Given the description of an element on the screen output the (x, y) to click on. 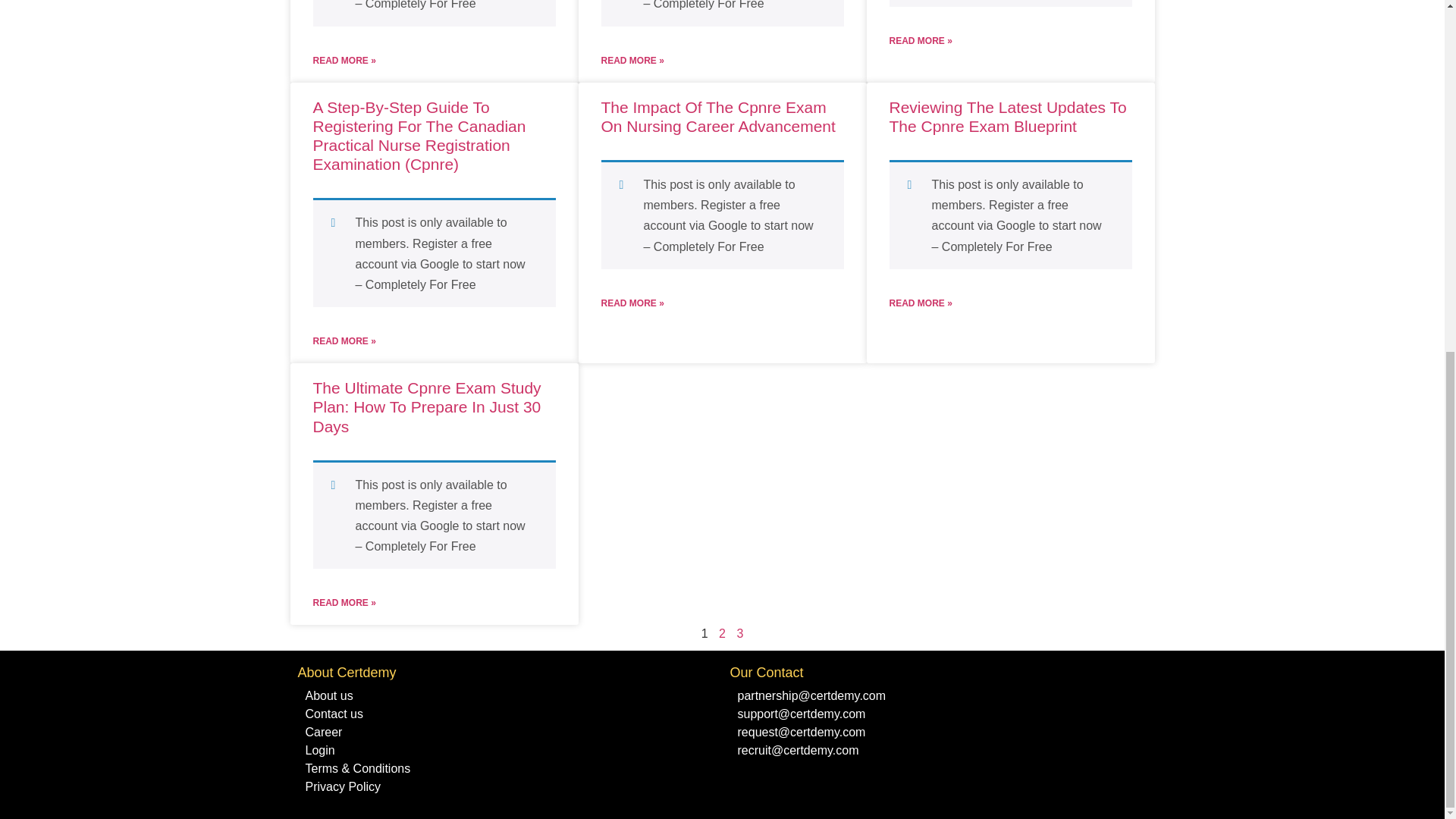
Contact us (505, 714)
The Impact Of The Cpnre Exam On Nursing Career Advancement (716, 116)
About us (505, 696)
Privacy Policy (505, 787)
Login (505, 751)
Reviewing The Latest Updates To The Cpnre Exam Blueprint (1006, 116)
Career (505, 732)
